Given the description of an element on the screen output the (x, y) to click on. 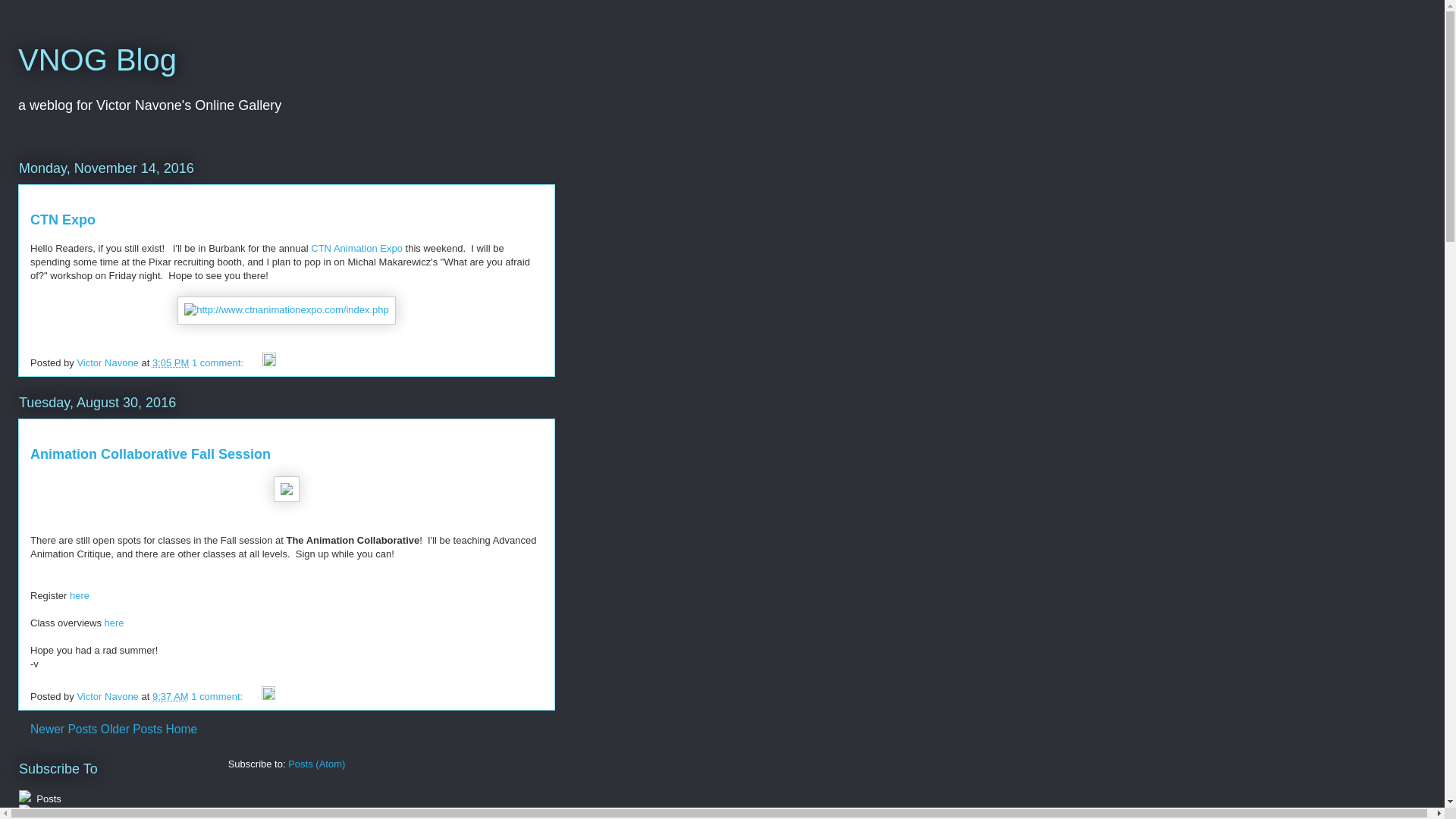
here (113, 622)
VNOG Blog (96, 59)
Email Post (254, 696)
CTN Animation Expo (355, 247)
3:05 PM (170, 362)
Victor Navone (109, 362)
here (78, 595)
Newer Posts (63, 728)
Edit Post (268, 696)
Animation Collaborative Fall Session (150, 453)
Newer Posts (63, 728)
Older Posts (130, 728)
Edit Post (269, 362)
Home (181, 728)
1 comment: (219, 362)
